Given the description of an element on the screen output the (x, y) to click on. 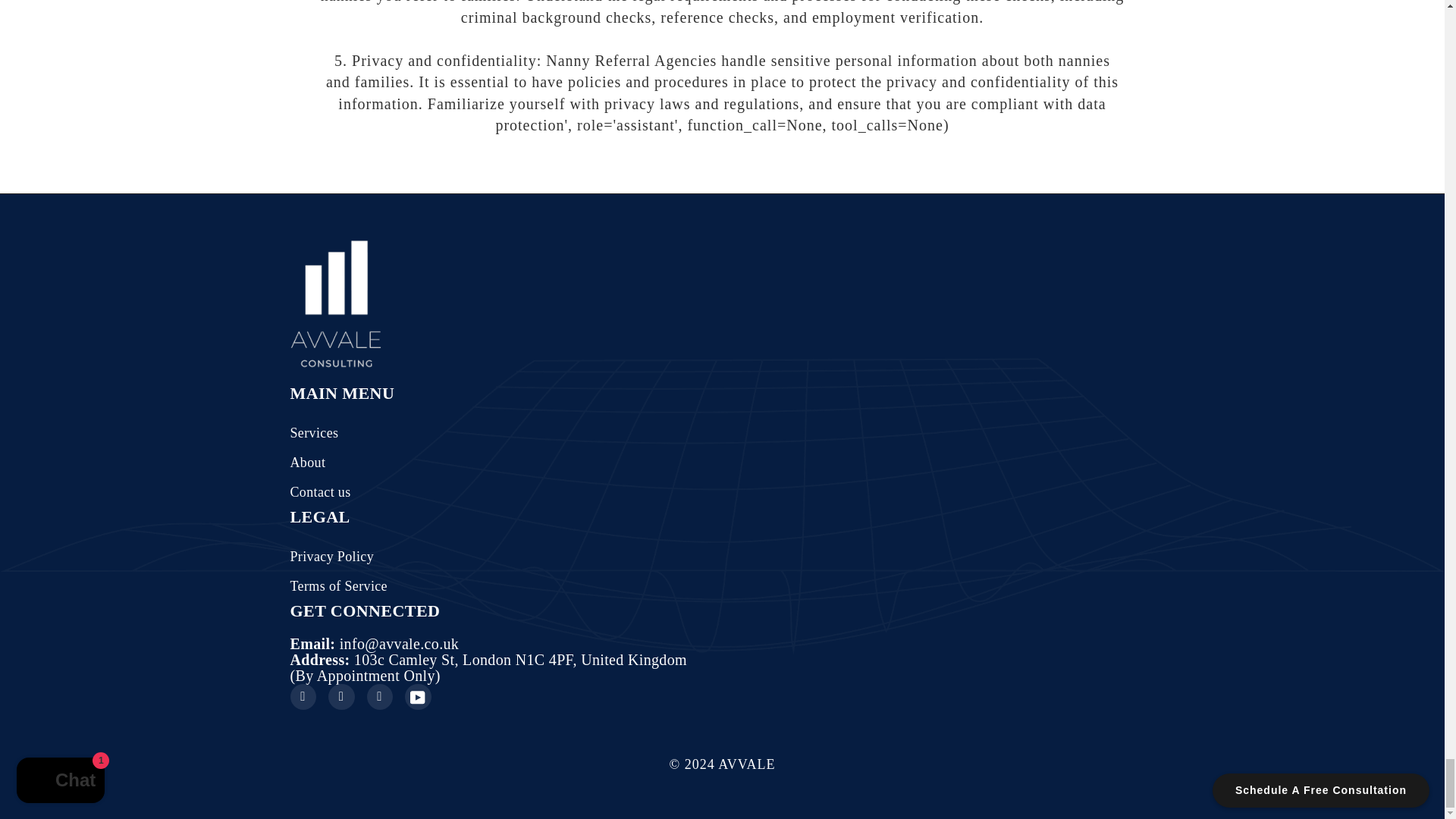
AVVALE on LinkedIn (379, 696)
AVVALE on YouTube (417, 696)
AVVALE on Instagram (342, 696)
